Given the description of an element on the screen output the (x, y) to click on. 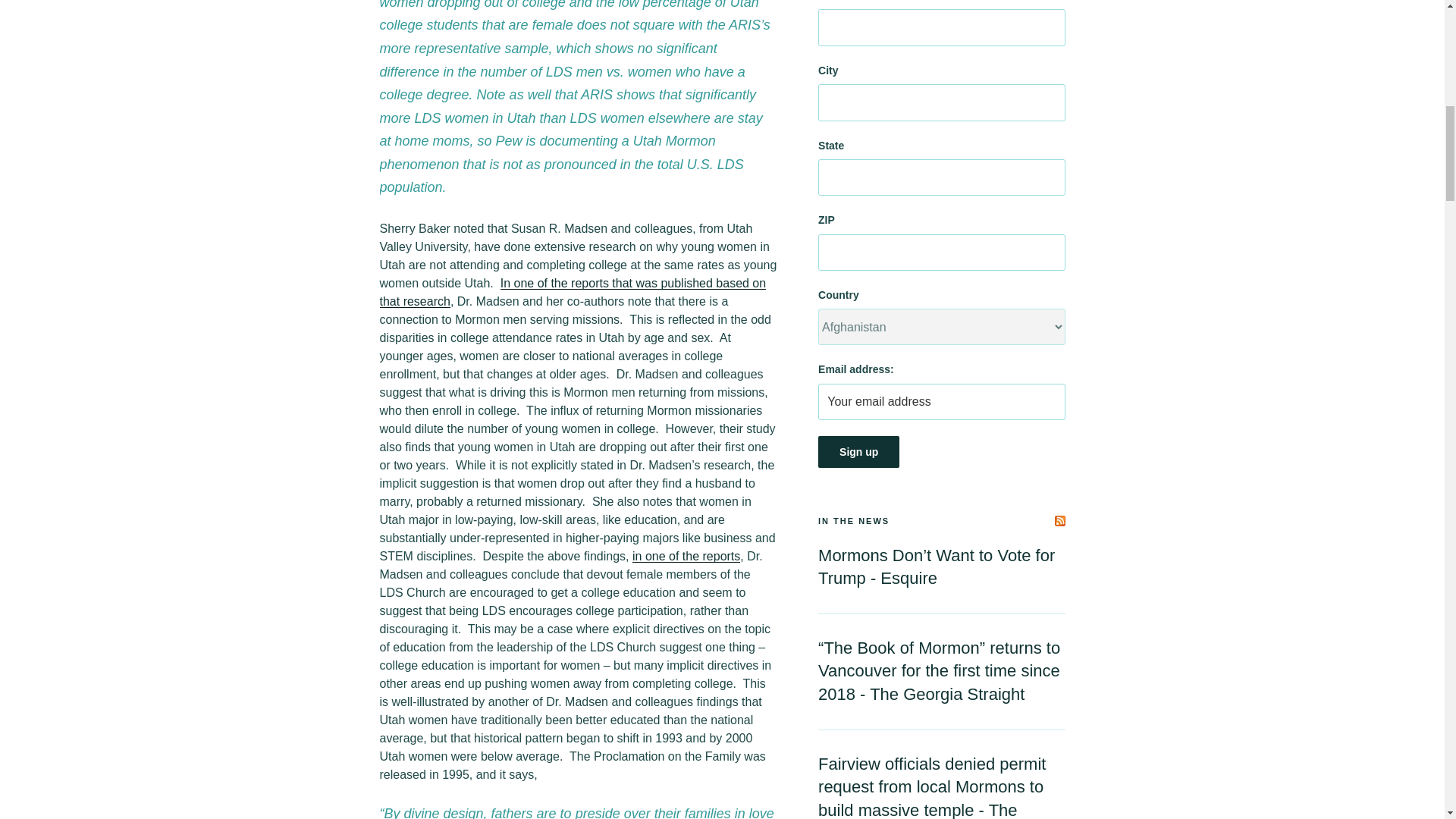
in one of the reports (685, 555)
Sign up (858, 451)
Sign up (858, 451)
